Given the description of an element on the screen output the (x, y) to click on. 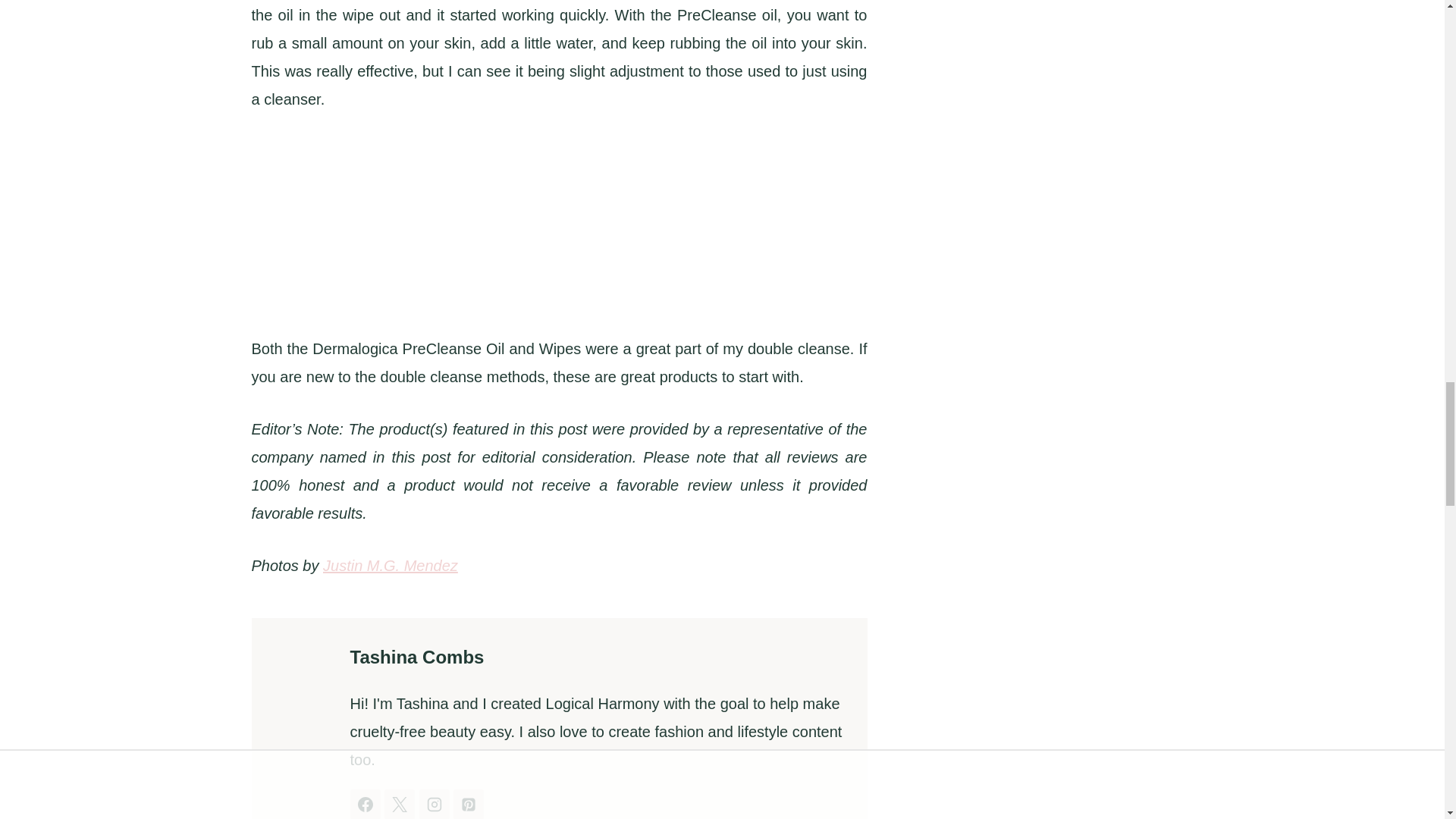
Follow Tashina Combs on Facebook (365, 804)
Follow Tashina Combs on Pinterest (467, 804)
Justin M.G. Mendez (390, 565)
Follow Tashina Combs on Instagram (434, 804)
Follow Tashina Combs on X formerly Twitter (399, 804)
